Given the description of an element on the screen output the (x, y) to click on. 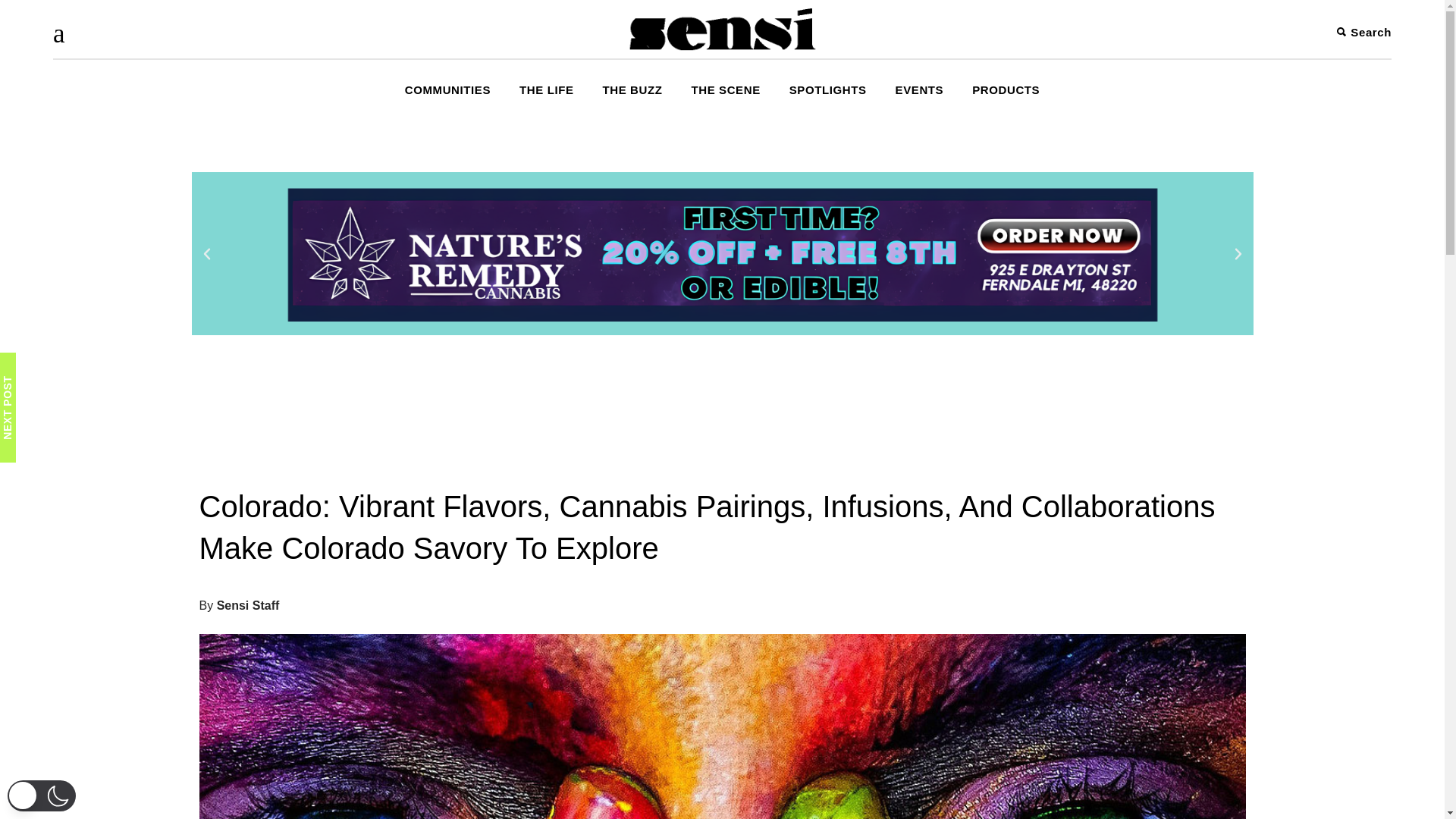
THE LIFE (546, 88)
PRODUCTS (1005, 88)
THE SCENE (725, 88)
THE BUZZ (632, 88)
COMMUNITIES (447, 88)
EVENTS (919, 88)
Search (1363, 32)
SPOTLIGHTS (827, 88)
